Given the description of an element on the screen output the (x, y) to click on. 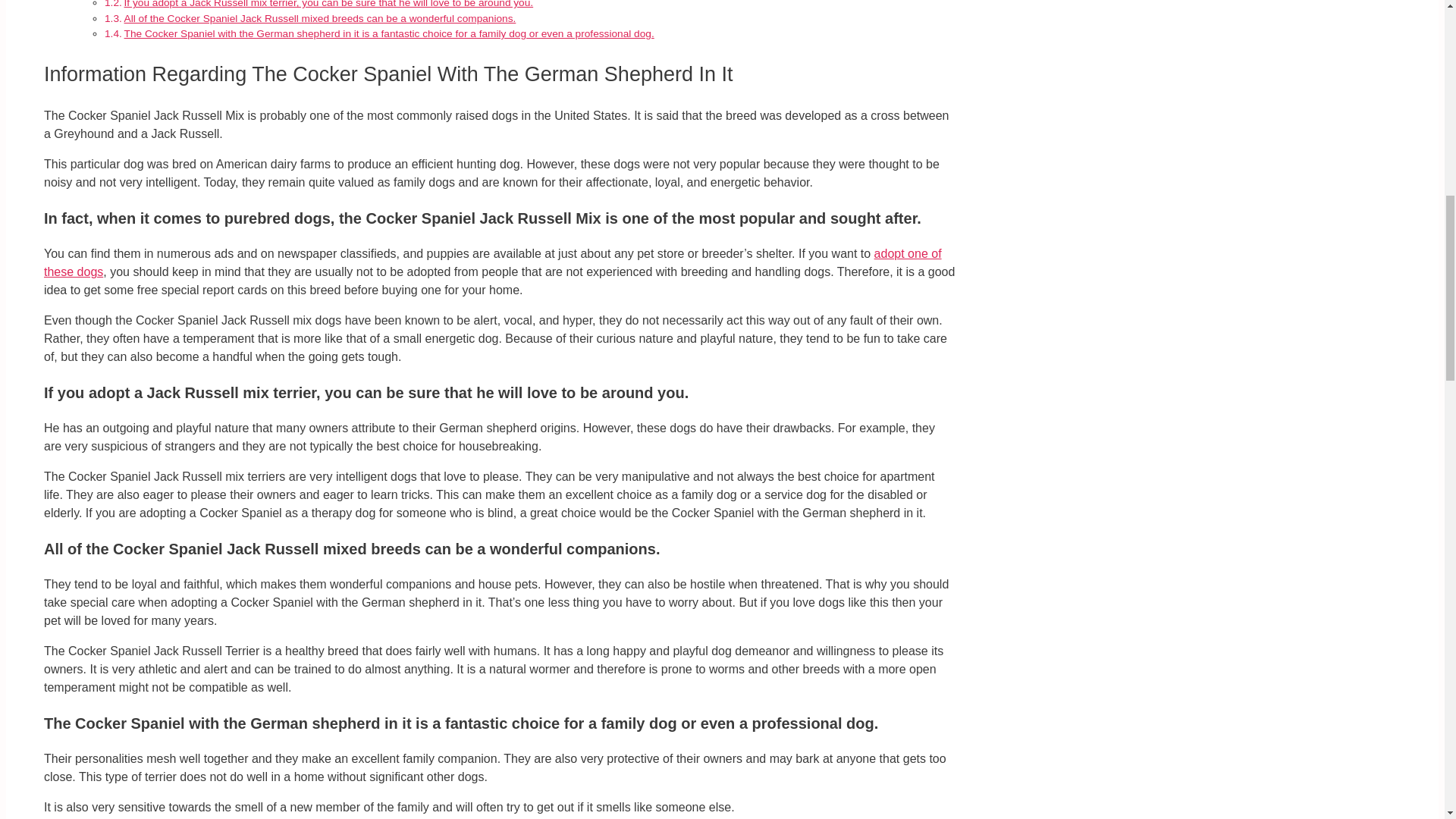
adopt one of these dogs (492, 262)
